Given the description of an element on the screen output the (x, y) to click on. 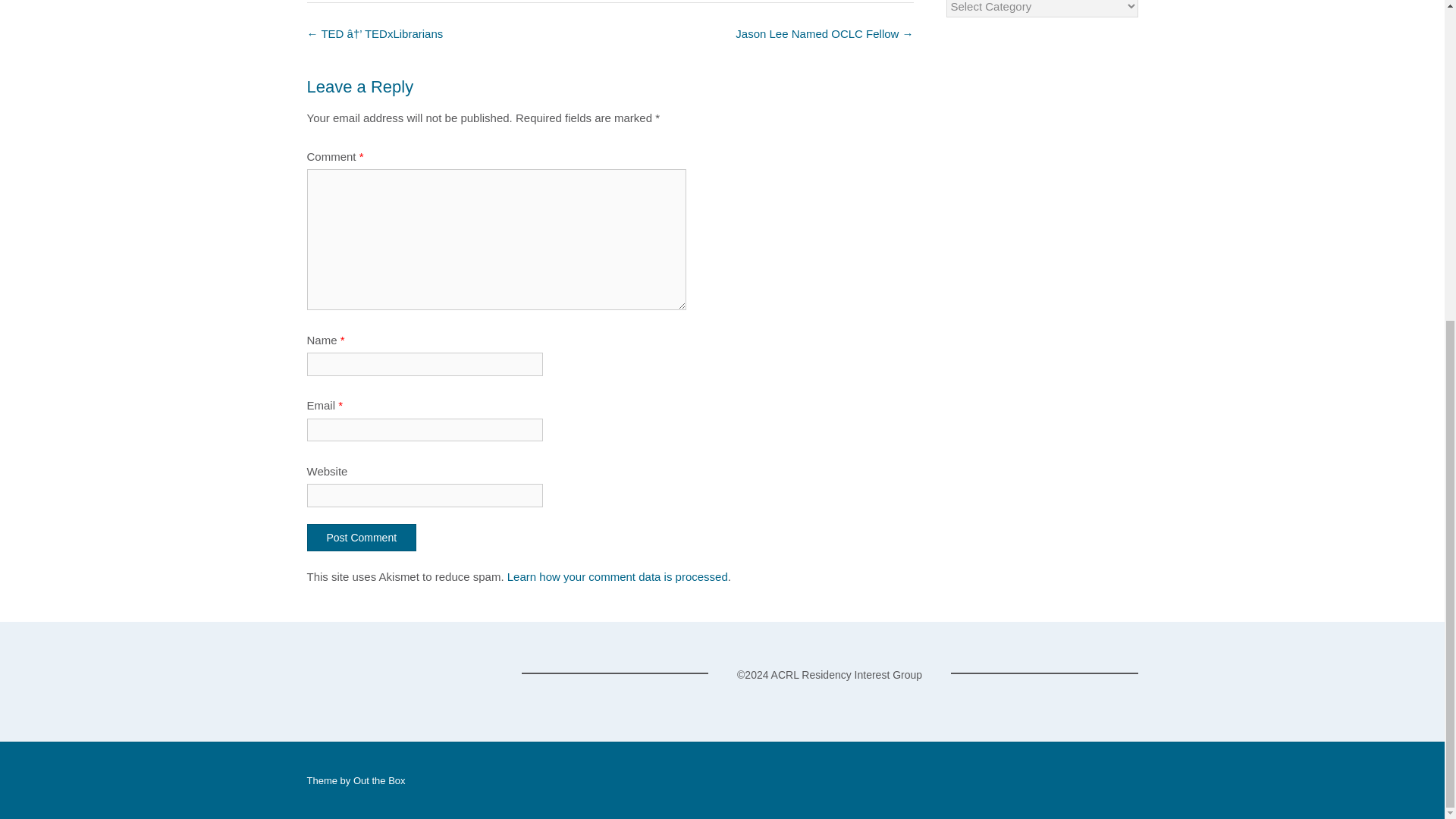
Post Comment (360, 537)
Post Comment (360, 537)
Learn how your comment data is processed (617, 576)
Out the Box (379, 780)
